Given the description of an element on the screen output the (x, y) to click on. 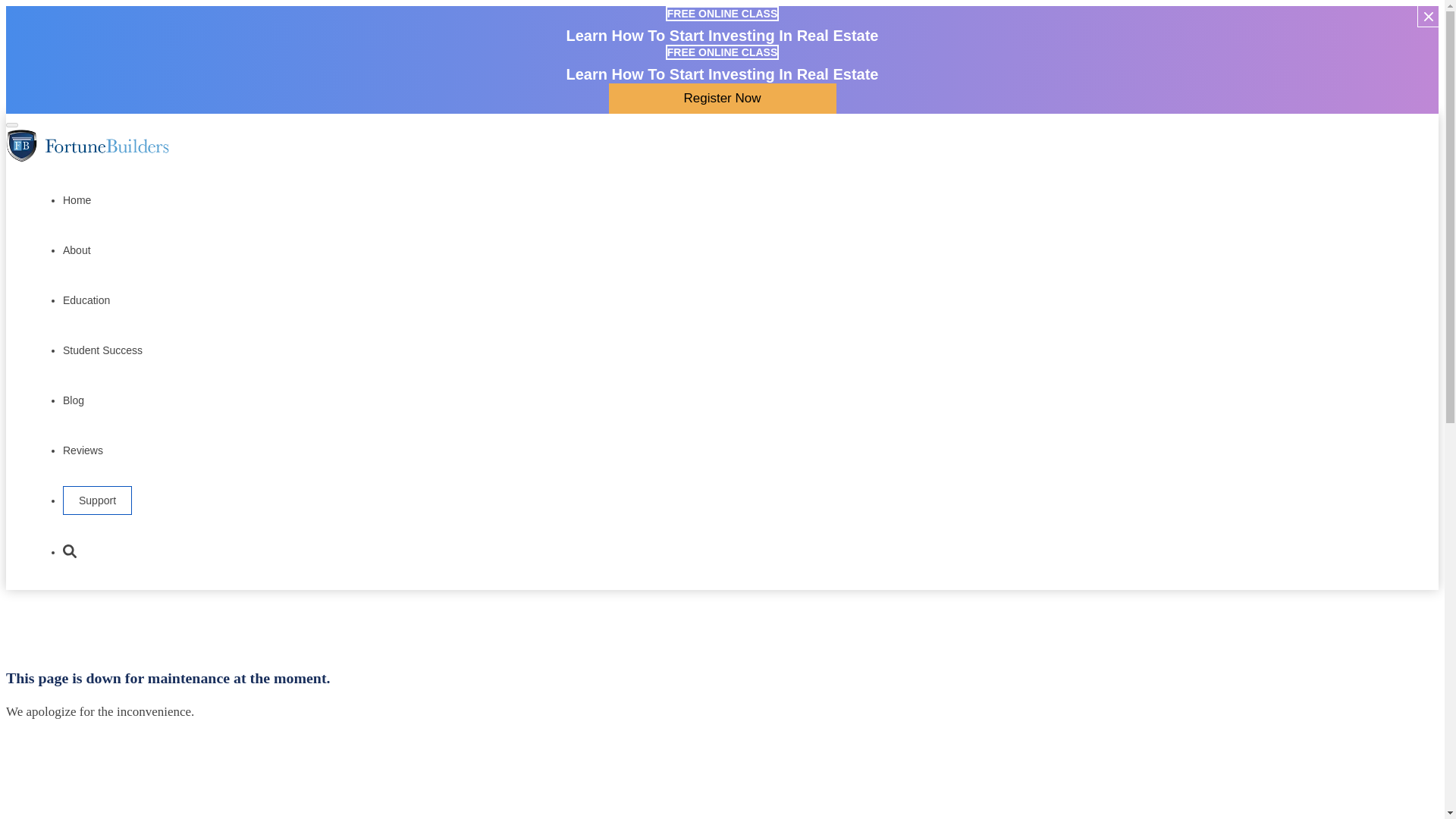
FREE ONLINE CLASS (721, 12)
Home (76, 197)
FREE ONLINE CLASS (721, 51)
Blog (73, 398)
Reviews (82, 448)
About (76, 248)
Student Success (102, 348)
Support (97, 500)
Register Now (721, 98)
Education (86, 298)
